Given the description of an element on the screen output the (x, y) to click on. 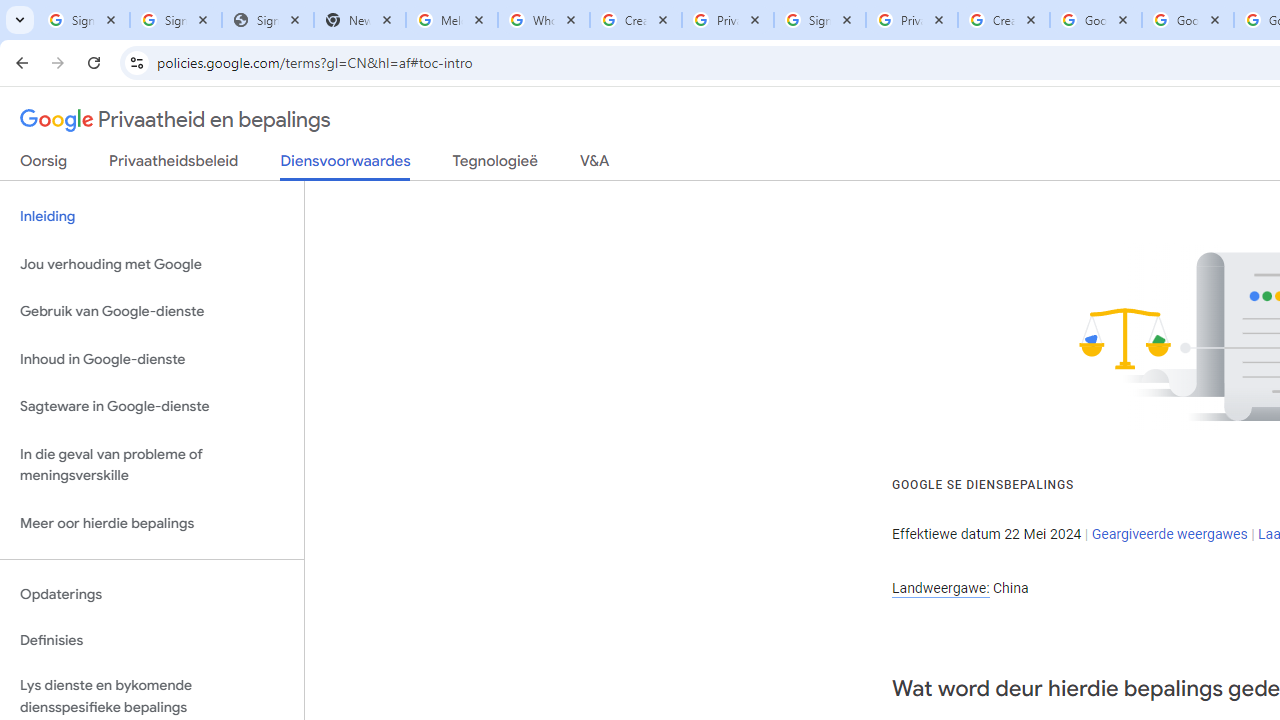
Privaatheidsbeleid (173, 165)
Inleiding (152, 216)
Sagteware in Google-dienste (152, 407)
Inhoud in Google-dienste (152, 358)
